Given the description of an element on the screen output the (x, y) to click on. 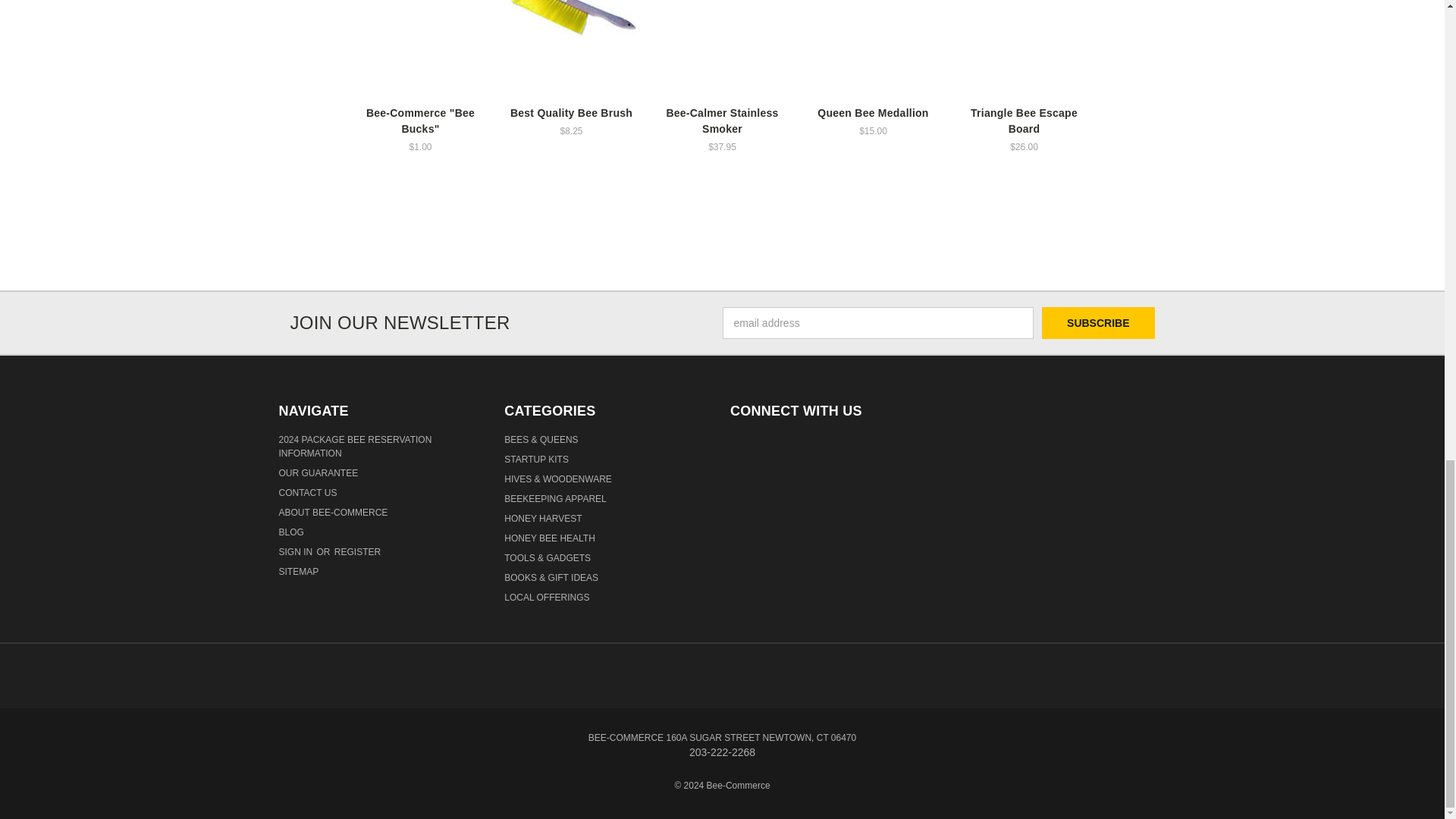
Best Quality Bee Brush (571, 38)
Queen Bee Medallion (872, 48)
Triangle Bee Escape Board (1024, 48)
Subscribe (1098, 323)
Bee Calmer Stainless Smoker (722, 36)
Bee-Commerce "Bee Bucks" (420, 48)
